Given the description of an element on the screen output the (x, y) to click on. 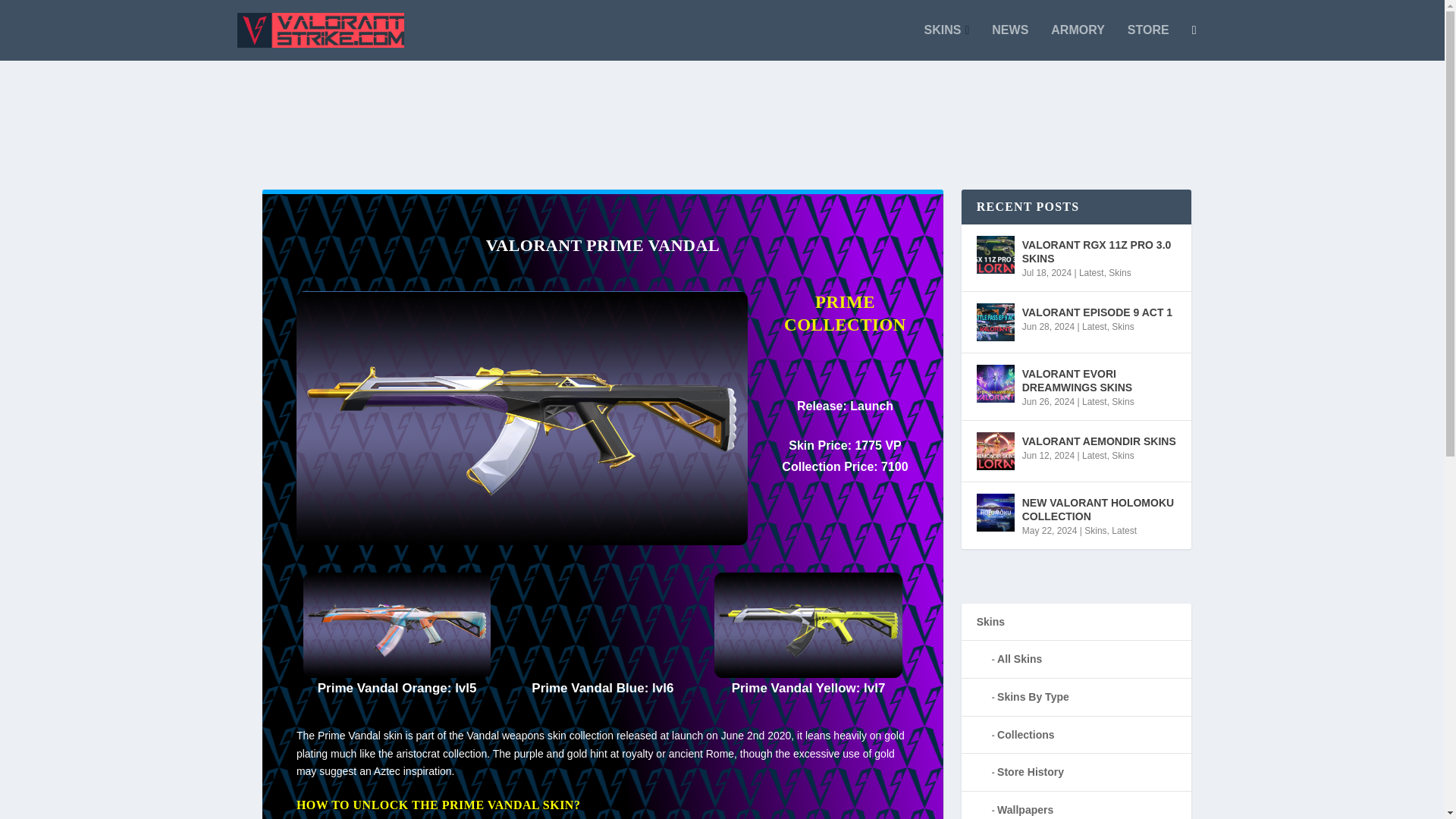
ARMORY (1078, 42)
Prime Vandal yellow Variant 3 (808, 674)
Valorant-Prime-Vandal-Orange-Variant-1 (397, 625)
VALORANT RGX 11Z PRO 3.0 SKINS (995, 254)
STORE (1147, 42)
Prime Vandal Orange Variant vlv5 (397, 674)
VALORANT EPISODE 9 ACT 1 (1097, 312)
SKINS (946, 42)
Skins (1123, 326)
Latest (1090, 272)
Latest (1093, 326)
NEWS (1009, 42)
valorant prime vandal hd (522, 541)
VALORANT EVORI DREAMWINGS SKINS (1099, 380)
VALORANT RGX 11Z PRO 3.0 SKINS (1099, 251)
